Given the description of an element on the screen output the (x, y) to click on. 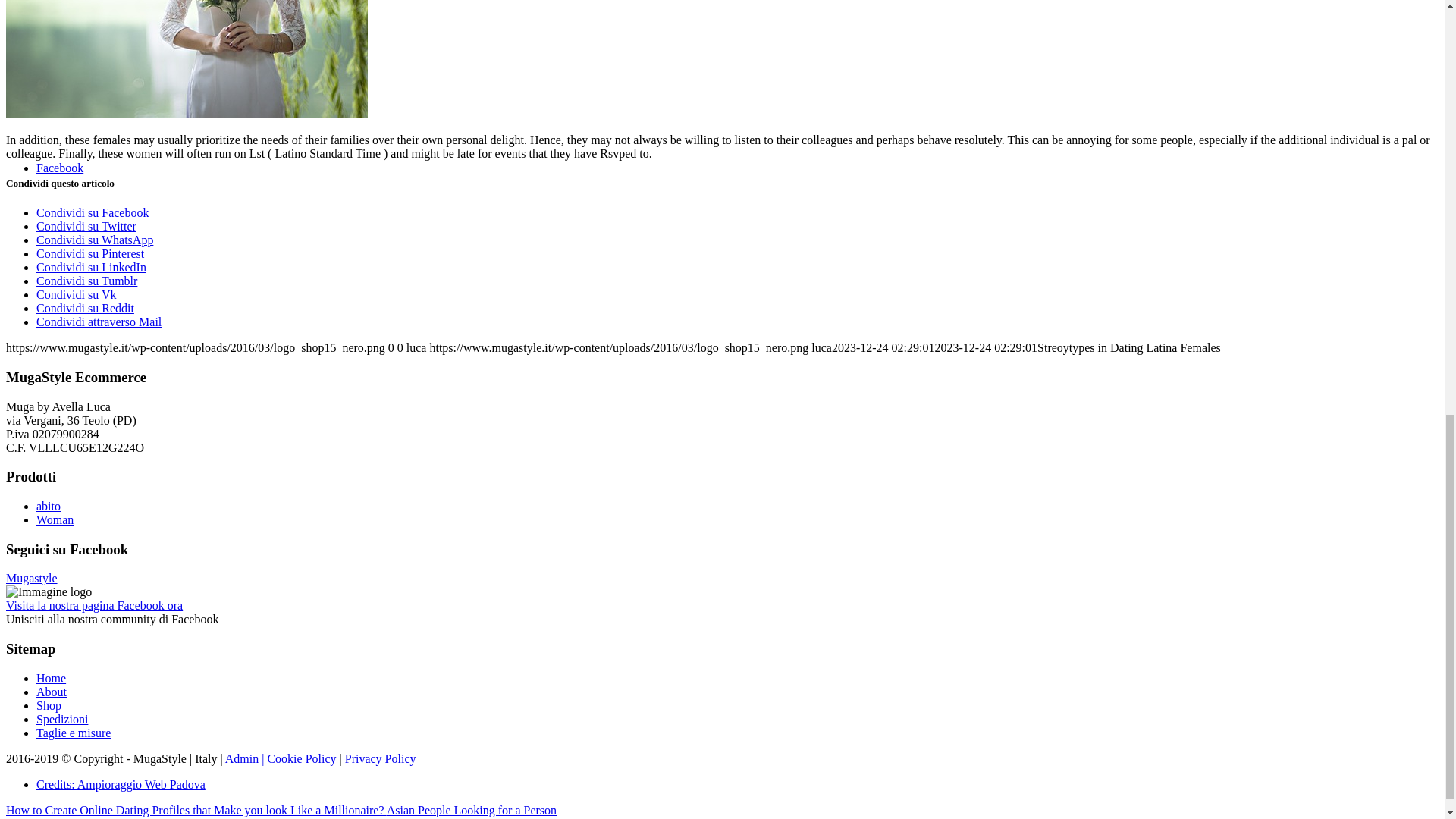
Condividi su Twitter (86, 226)
Spedizioni (61, 718)
Home (50, 677)
About (51, 691)
Mugastyle (31, 577)
Condividi su Facebook (92, 212)
Privacy Policy (380, 758)
Condividi su WhatsApp (94, 239)
Taglie e misure (73, 732)
Condividi attraverso Mail (98, 321)
